Given the description of an element on the screen output the (x, y) to click on. 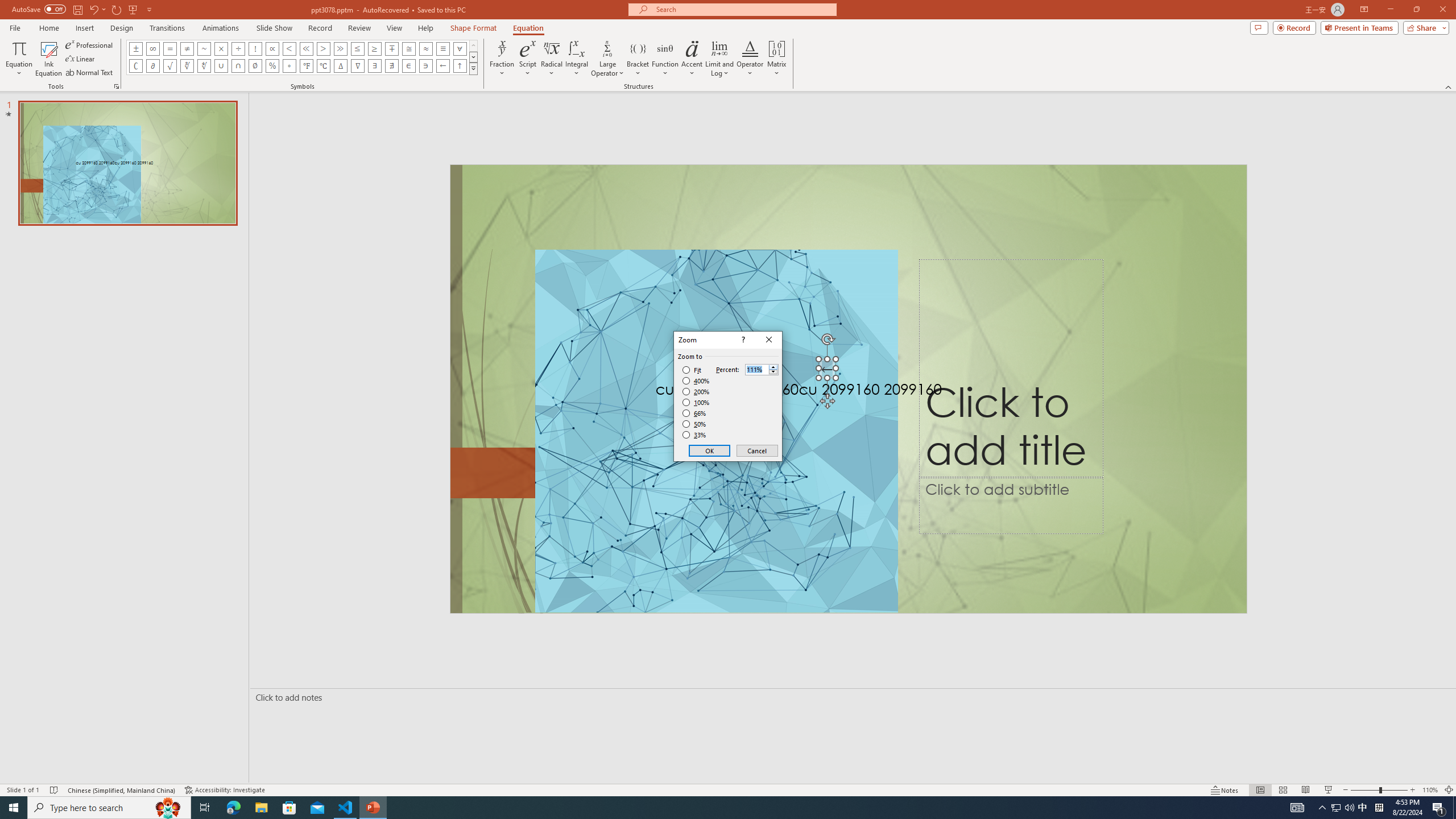
AutomationID: EquationSymbolsInsertGallery (302, 57)
50% (694, 424)
Context help (742, 339)
Equation Symbol Equal (170, 48)
